Given the description of an element on the screen output the (x, y) to click on. 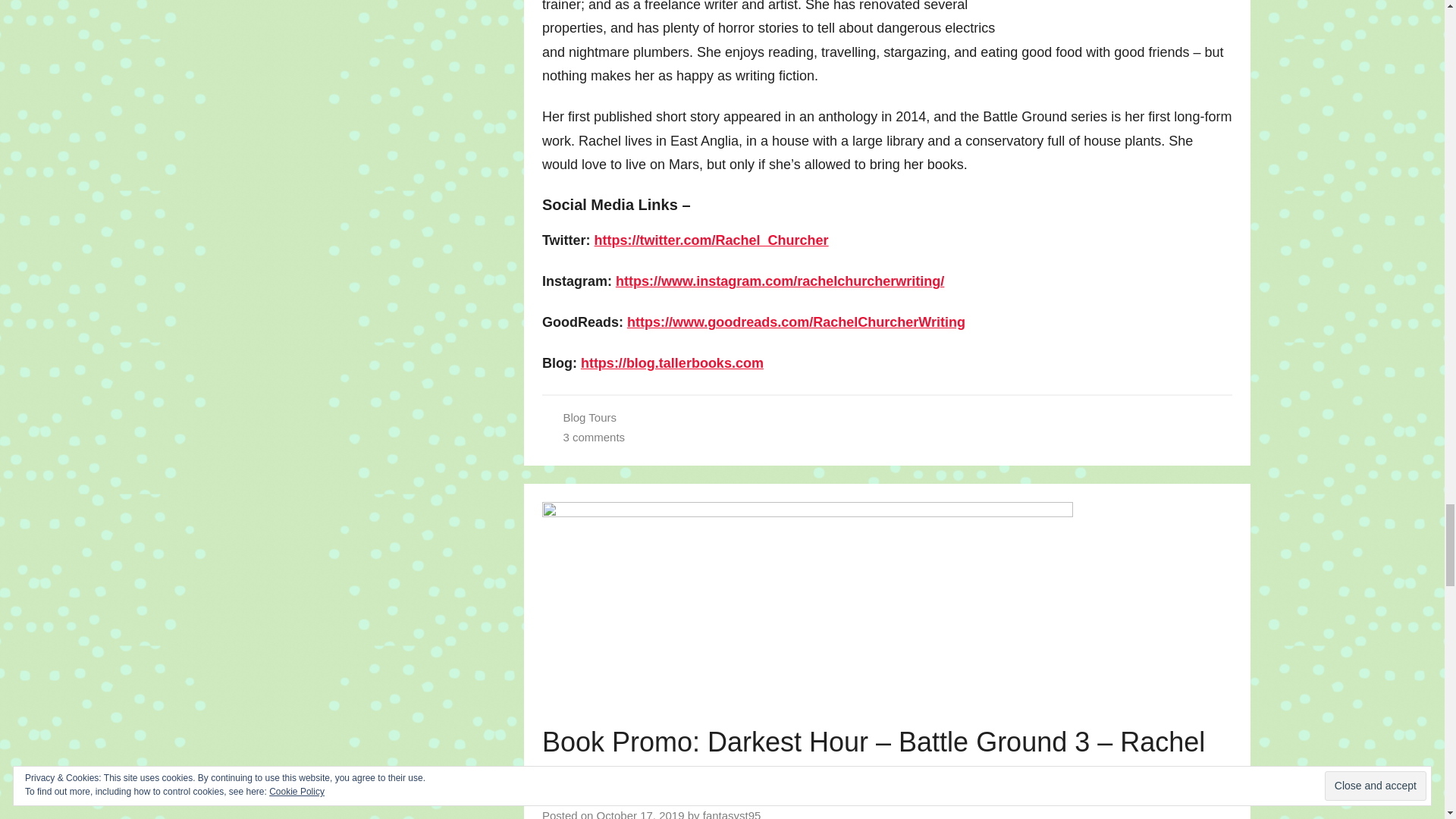
View all posts by fantasyst95 (732, 814)
